Given the description of an element on the screen output the (x, y) to click on. 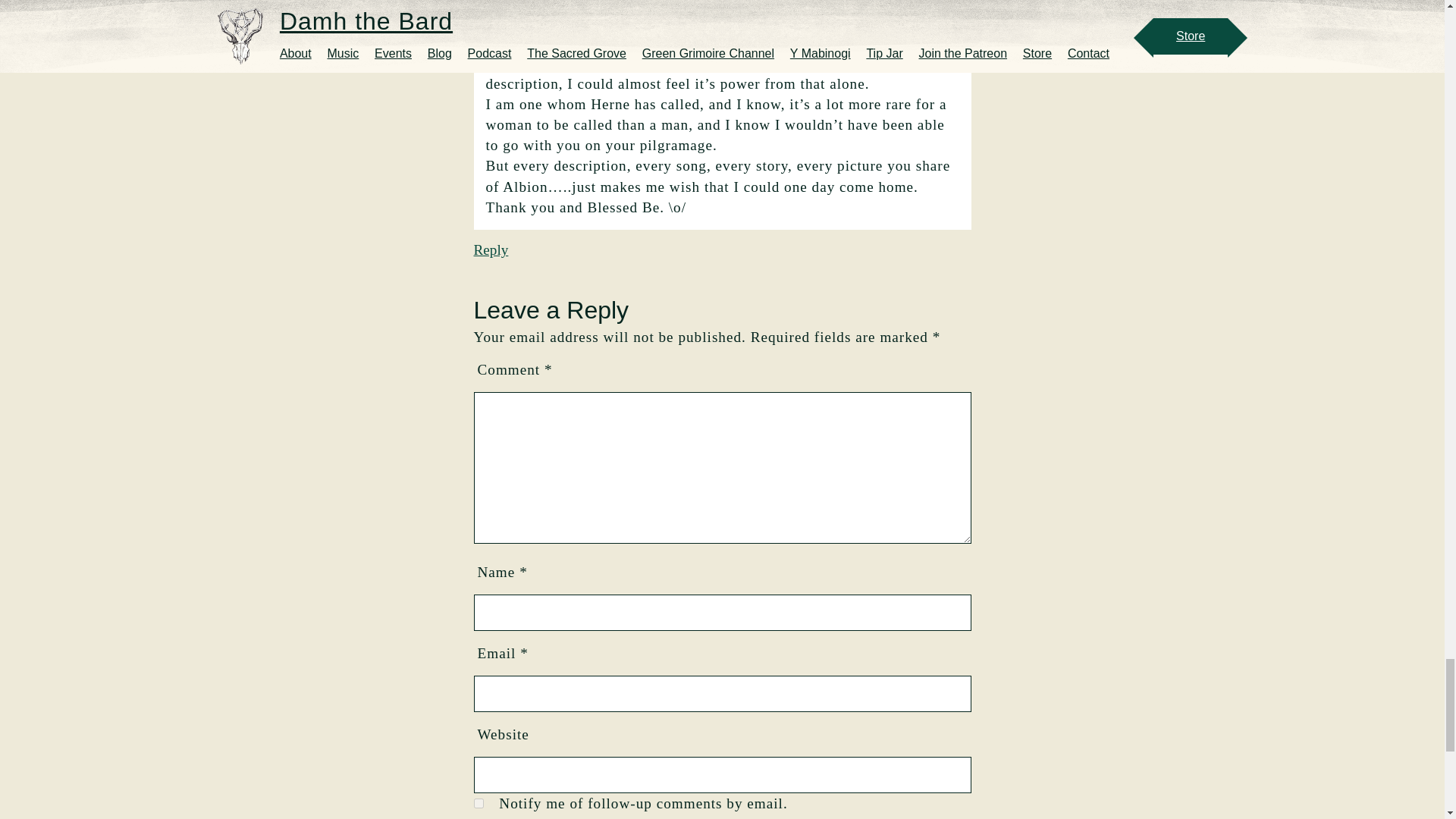
subscribe (478, 803)
